Given the description of an element on the screen output the (x, y) to click on. 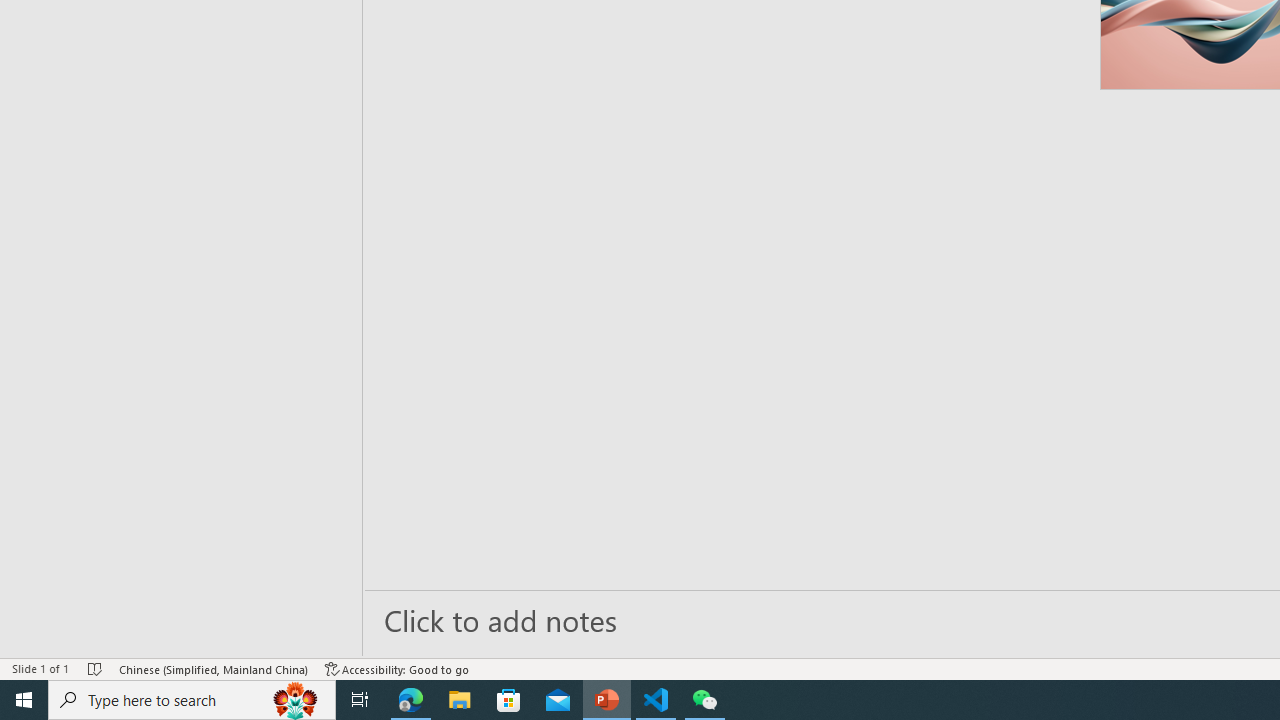
Accessibility Checker Accessibility: Good to go (397, 668)
